Given the description of an element on the screen output the (x, y) to click on. 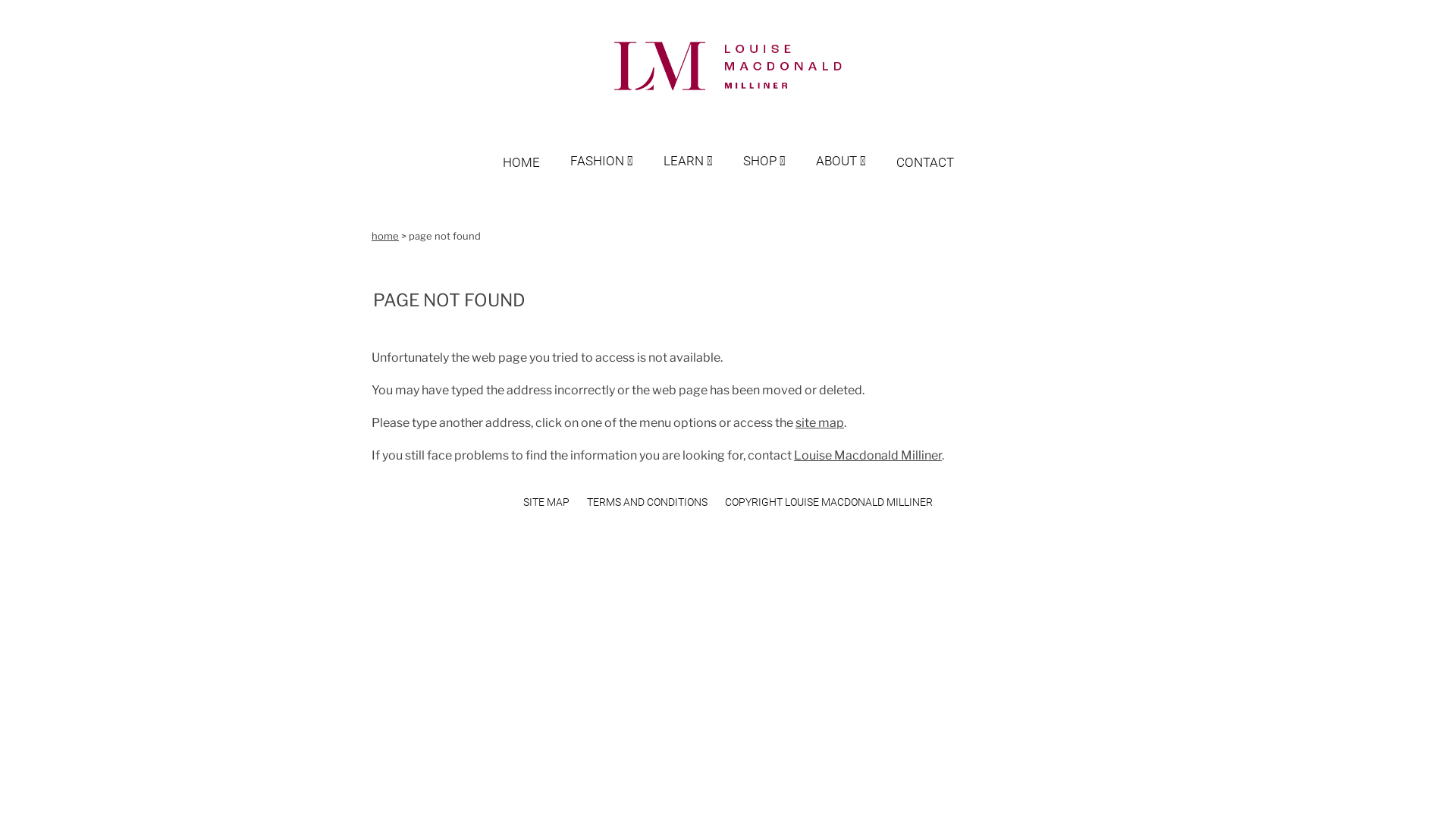
HOME Element type: text (535, 147)
CONTACT Element type: text (924, 147)
TERMS AND CONDITIONS Element type: text (646, 501)
home Element type: text (384, 235)
Louise Macdonald Milliner (Melbourne, Australia) | Home page Element type: hover (727, 65)
SITE MAP Element type: text (546, 501)
Louise Macdonald Milliner Element type: text (867, 455)
site map Element type: text (819, 422)
Louise Macdonald Milliner (Melbourne, Australia) | Home page Element type: hover (727, 90)
